Given the description of an element on the screen output the (x, y) to click on. 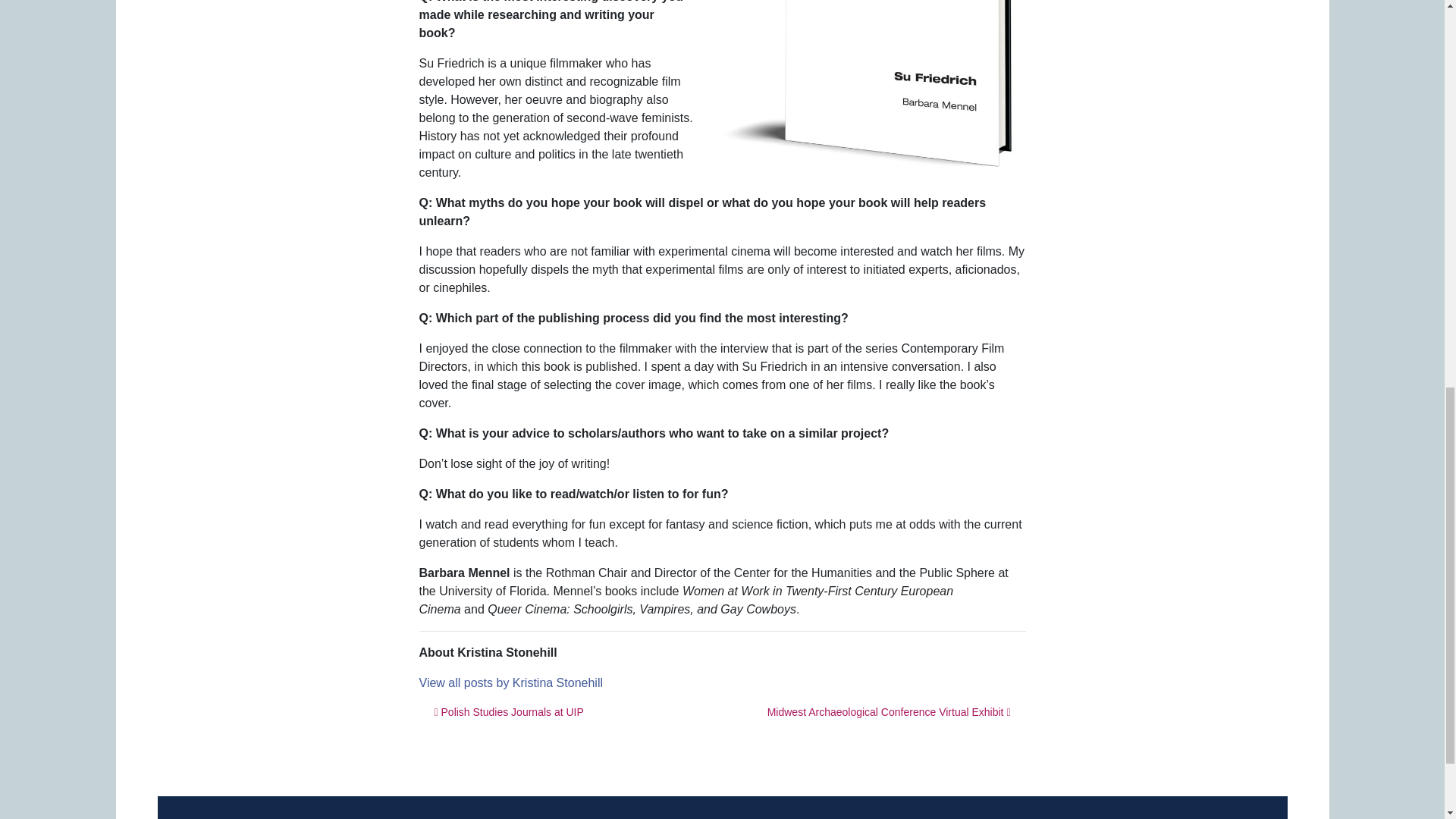
Midwest Archaeological Conference Virtual Exhibit  (888, 711)
 Polish Studies Journals at UIP (508, 711)
View all posts by Kristina Stonehill (510, 682)
